Given the description of an element on the screen output the (x, y) to click on. 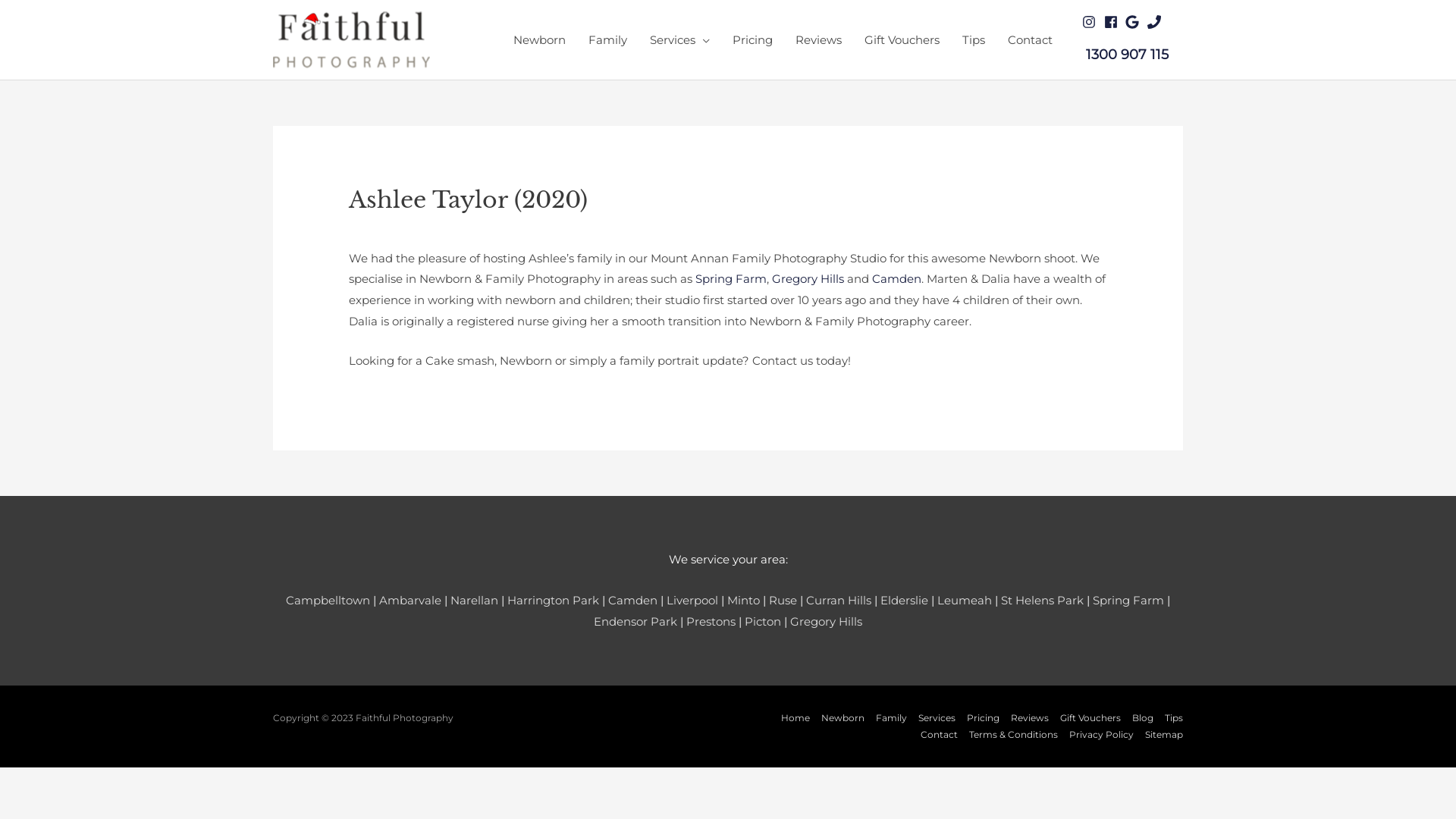
Family Element type: text (886, 717)
FAITHFUL-PHOTOGRAPHY-036-of-50-IMG_6373 Element type: hover (429, 231)
FAITHFUL-PHOTOGRAPHY-043-of-50-IMG_6403 Element type: hover (445, 231)
FAITHFUL-PHOTOGRAPHY-002-of-50-IMG_6274 Element type: hover (351, 231)
Campbelltown Element type: text (327, 600)
FAITHFUL-PHOTOGRAPHY-020-of-50-IMG_6310 Element type: hover (392, 231)
FAITHFUL-PHOTOGRAPHY-031-of-50-IMG_6348 Element type: hover (417, 231)
Ambarvale Element type: text (410, 600)
FAITHFUL-PHOTOGRAPHY-018-of-50-IMG_6305 Element type: hover (388, 231)
Endensor Park Element type: text (635, 621)
Gregory Hills Element type: text (807, 278)
Reviews Element type: text (1024, 717)
FAITHFUL-PHOTOGRAPHY-038-of-50-IMG_6367 Element type: hover (433, 231)
Pricing Element type: text (752, 39)
Pricing Element type: text (978, 717)
FAITHFUL-PHOTOGRAPHY-022-of-50-IMG_6320 Element type: hover (397, 231)
Tips Element type: text (973, 39)
FAITHFUL-PHOTOGRAPHY-001-of-50-IMG_6270 Element type: hover (349, 231)
FAITHFUL-PHOTOGRAPHY-042-of-50-IMG_6401 Element type: hover (442, 231)
FAITHFUL-PHOTOGRAPHY-010-of-50-IMG_6260 Element type: hover (370, 231)
FAITHFUL-PHOTOGRAPHY-015-of-50-IMG_6297 Element type: hover (381, 231)
FAITHFUL-PHOTOGRAPHY-024-of-50-IMG_6323 Element type: hover (401, 231)
FAITHFUL-PHOTOGRAPHY-037-of-50-IMG_6375 Element type: hover (431, 231)
Ruse Element type: text (782, 600)
Contact Element type: text (1029, 39)
FAITHFUL-PHOTOGRAPHY-025-of-50-IMG_6331 Element type: hover (404, 231)
Spring Farm Element type: text (729, 278)
FAITHFUL-PHOTOGRAPHY-007-of-50-IMG_6286 Element type: hover (363, 231)
FAITHFUL-PHOTOGRAPHY-040-of-50-IMG_6381 Element type: hover (438, 231)
FAITHFUL-PHOTOGRAPHY-005-of-50-IMG_6279 Element type: hover (358, 231)
St Helens Park Element type: text (1042, 600)
Family Element type: text (607, 39)
FAITHFUL-PHOTOGRAPHY-039-of-50-IMG_6376 Element type: hover (436, 231)
Contact Element type: text (934, 734)
FAITHFUL-PHOTOGRAPHY-014-of-50-IMG_6296 Element type: hover (379, 231)
FAITHFUL-PHOTOGRAPHY-023-of-50-IMG_6319 Element type: hover (399, 231)
Picton Element type: text (762, 621)
Leumeah Element type: text (964, 600)
FAITHFUL-PHOTOGRAPHY-012-of-50-IMG_6268 Element type: hover (374, 231)
Services Element type: text (932, 717)
FAITHFUL-PHOTOGRAPHY-009-of-50-IMG_6257 Element type: hover (367, 231)
FAITHFUL-PHOTOGRAPHY-029-of-50-IMG_6344 Element type: hover (413, 231)
FAITHFUL-PHOTOGRAPHY-044-of-50-IMG_6406 Element type: hover (447, 231)
FAITHFUL-PHOTOGRAPHY-050-of-50-IMG_6437 Element type: hover (461, 231)
FAITHFUL-PHOTOGRAPHY-032-of-50-IMG_6360 Element type: hover (420, 231)
FAITHFUL-PHOTOGRAPHY-003-of-50-IMG_6276 Element type: hover (354, 231)
Minto Element type: text (743, 600)
FAITHFUL-PHOTOGRAPHY-026-of-50-IMG_6335 Element type: hover (406, 231)
FAITHFUL-PHOTOGRAPHY-019-of-50-IMG_6309 Element type: hover (390, 231)
Privacy Policy Element type: text (1096, 734)
Curran Hills Element type: text (838, 600)
FAITHFUL-PHOTOGRAPHY-047-of-50-IMG_6421 Element type: hover (454, 231)
Blog Element type: text (1138, 717)
Elderslie Element type: text (904, 600)
Services Element type: text (679, 39)
1300 907 115 Element type: text (1126, 53)
Terms & Conditions Element type: text (1008, 734)
Sitemap Element type: text (1159, 734)
FAITHFUL-PHOTOGRAPHY-004-of-50-IMG_6278 Element type: hover (356, 231)
FAITHFUL-PHOTOGRAPHY-030-of-50-IMG_6347 Element type: hover (415, 231)
Home Element type: text (790, 717)
Harrington Park Element type: text (553, 600)
Spring Farm Element type: text (1128, 600)
FAITHFUL-PHOTOGRAPHY-046-of-50-IMG_6418 Element type: hover (451, 231)
FAITHFUL-PHOTOGRAPHY-049-of-50-IMG_6430 Element type: hover (458, 231)
FAITHFUL-PHOTOGRAPHY-006-of-50-IMG_6284 Element type: hover (360, 231)
Gift Vouchers Element type: text (901, 39)
FAITHFUL-PHOTOGRAPHY-011-of-50-IMG_6261 Element type: hover (372, 231)
FAITHFUL-PHOTOGRAPHY-008-of-50-IMG_6253 Element type: hover (365, 231)
Liverpool Element type: text (692, 600)
FAITHFUL-PHOTOGRAPHY-013-of-50-IMG_6266 Element type: hover (376, 231)
FAITHFUL-PHOTOGRAPHY-017-of-50-IMG_6303 Element type: hover (385, 231)
Prestons Element type: text (710, 621)
Narellan Element type: text (474, 600)
FAITHFUL-PHOTOGRAPHY-021-of-50-IMG_6315 Element type: hover (395, 231)
FAITHFUL-PHOTOGRAPHY-016-of-50-IMG_6299 Element type: hover (383, 231)
Tips Element type: text (1169, 717)
FAITHFUL-PHOTOGRAPHY-045-of-50-IMG_6411 Element type: hover (449, 231)
FAITHFUL-PHOTOGRAPHY-034-of-50-IMG_6363 Element type: hover (424, 231)
FAITHFUL-PHOTOGRAPHY-048-of-50-IMG_6427 Element type: hover (456, 231)
Newborn Element type: text (838, 717)
FAITHFUL-PHOTOGRAPHY-028-of-50-IMG_6340 Element type: hover (411, 231)
FAITHFUL-PHOTOGRAPHY-041-of-50-IMG_6389 Element type: hover (440, 231)
FAITHFUL-PHOTOGRAPHY-033-of-50-IMG_6357 Element type: hover (422, 231)
Camden Element type: text (896, 278)
Gift Vouchers Element type: text (1085, 717)
Gregory Hills Element type: text (826, 621)
Camden Element type: text (632, 600)
FAITHFUL-PHOTOGRAPHY-027-of-50-IMG_6337 Element type: hover (408, 231)
FAITHFUL-PHOTOGRAPHY-035-of-50-IMG_6369 Element type: hover (426, 231)
Newborn Element type: text (539, 39)
Reviews Element type: text (818, 39)
